Given the description of an element on the screen output the (x, y) to click on. 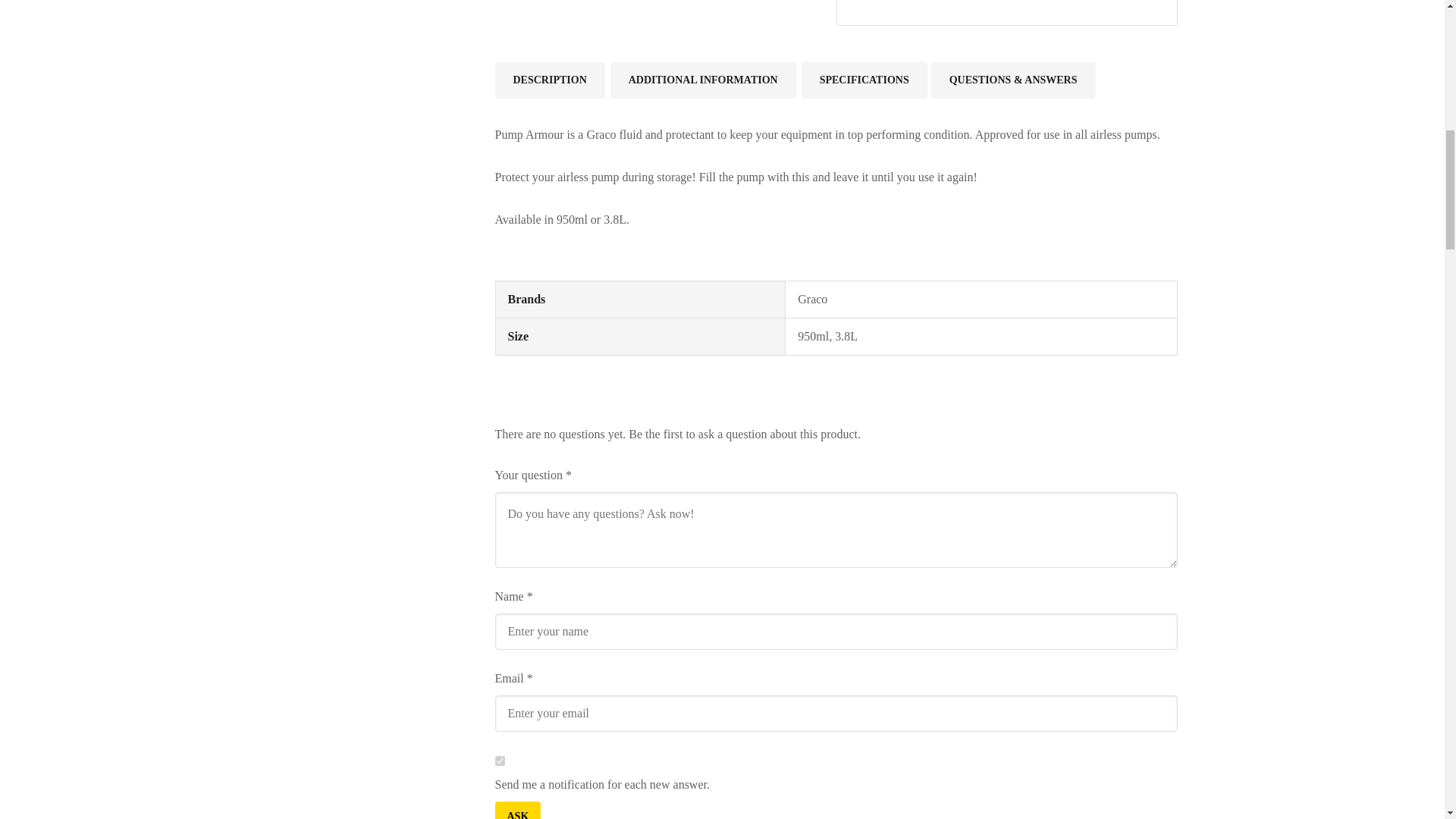
Ask your question (517, 810)
on (499, 760)
Ask (517, 810)
